Given the description of an element on the screen output the (x, y) to click on. 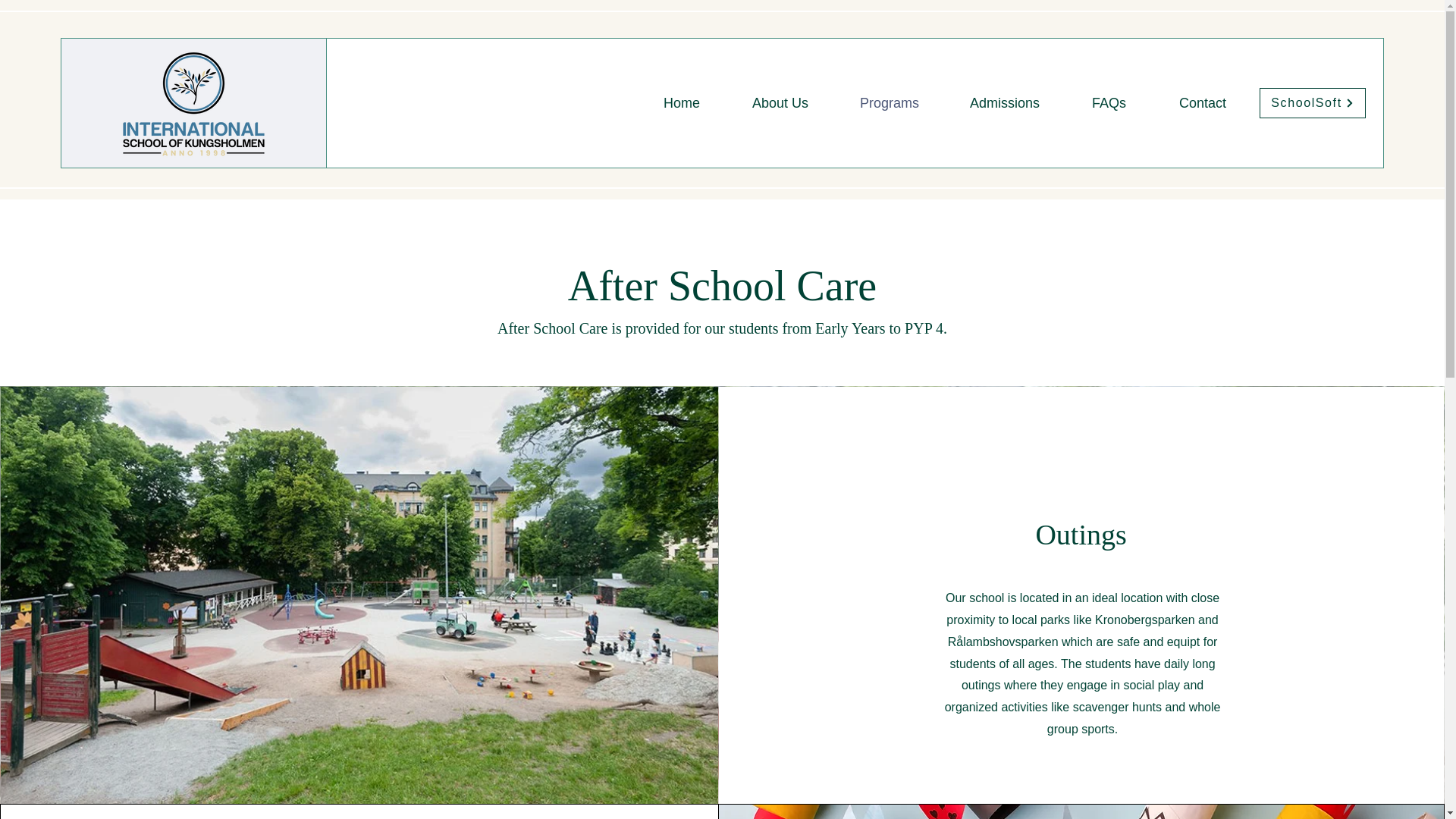
Programs (874, 103)
Contact (1187, 103)
Home (666, 103)
SchoolSoft (1312, 102)
Admissions (990, 103)
About Us (765, 103)
FAQs (1094, 103)
